Given the description of an element on the screen output the (x, y) to click on. 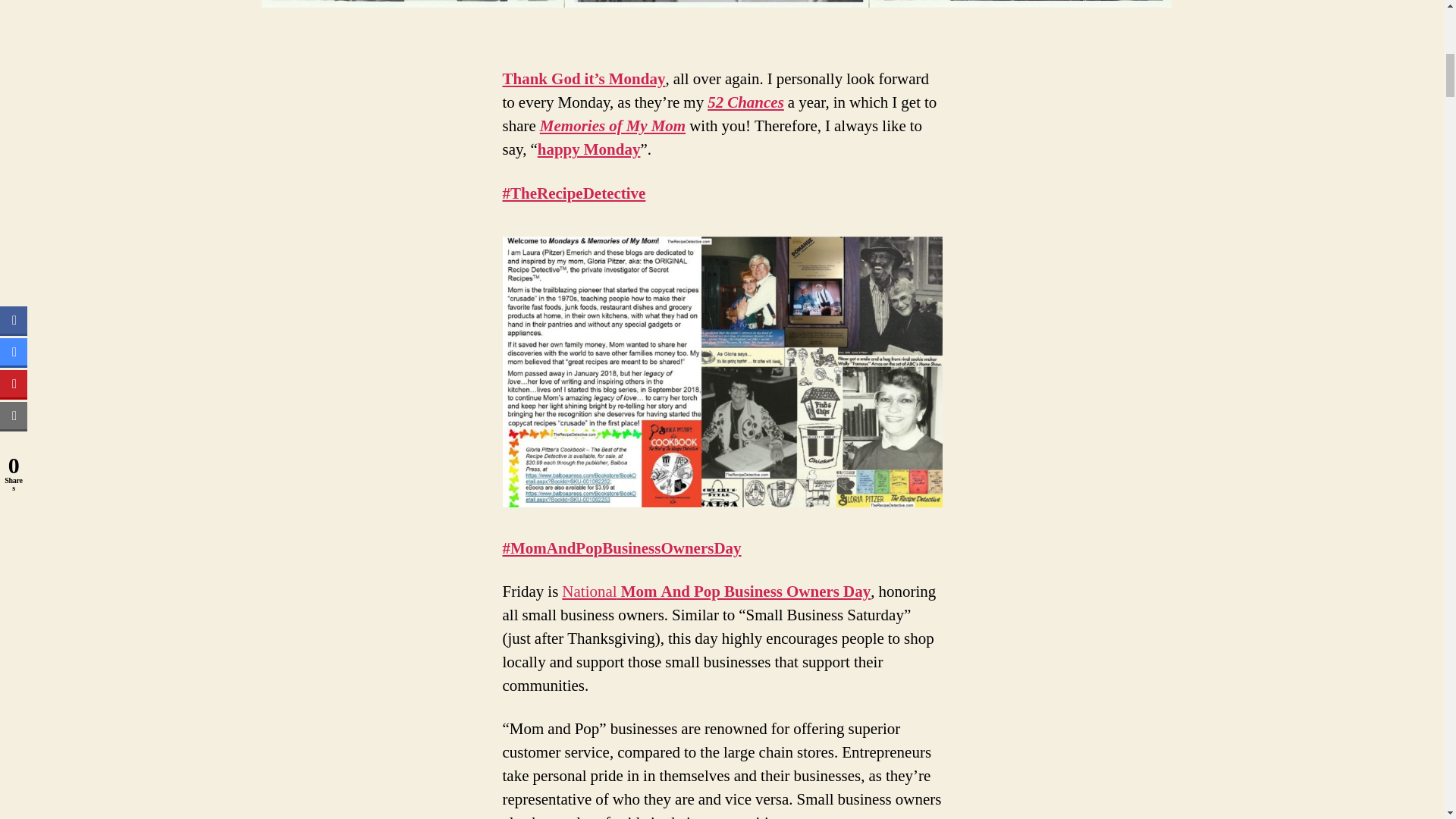
52 Chances (745, 102)
Memories of My Mom (612, 126)
happy Monday (588, 149)
